Given the description of an element on the screen output the (x, y) to click on. 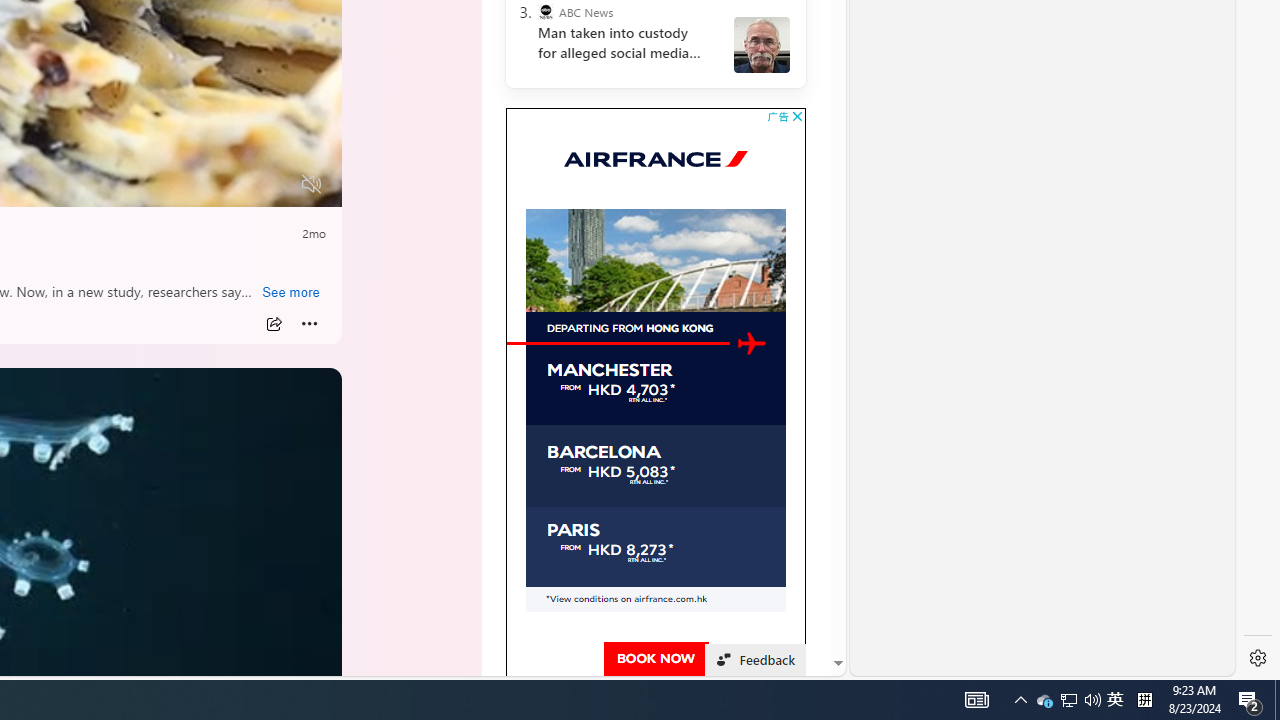
User Promoted Notification Area (1068, 699)
More (310, 324)
To get missing image descriptions, open the context menu. (751, 343)
Tray Input Indicator - Chinese (Simplified, China) (1144, 699)
Captions (233, 185)
AutomationID: 4105 (976, 699)
Share (274, 324)
Notification Chevron (1044, 699)
Unmute (1020, 699)
Class: at-item inline-watch (311, 184)
